Given the description of an element on the screen output the (x, y) to click on. 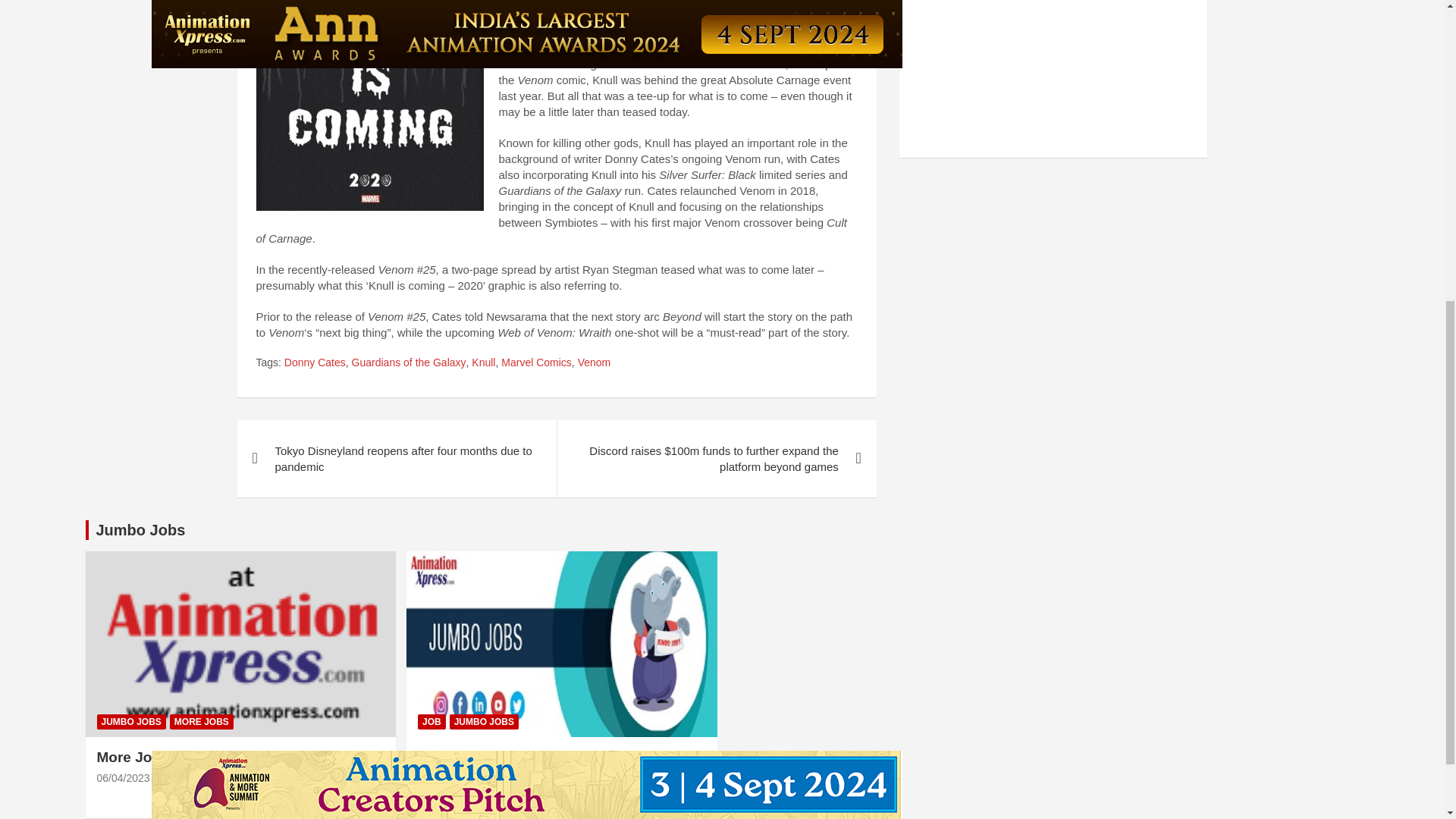
More Jobs (123, 777)
YouTube video player (1024, 71)
